Given the description of an element on the screen output the (x, y) to click on. 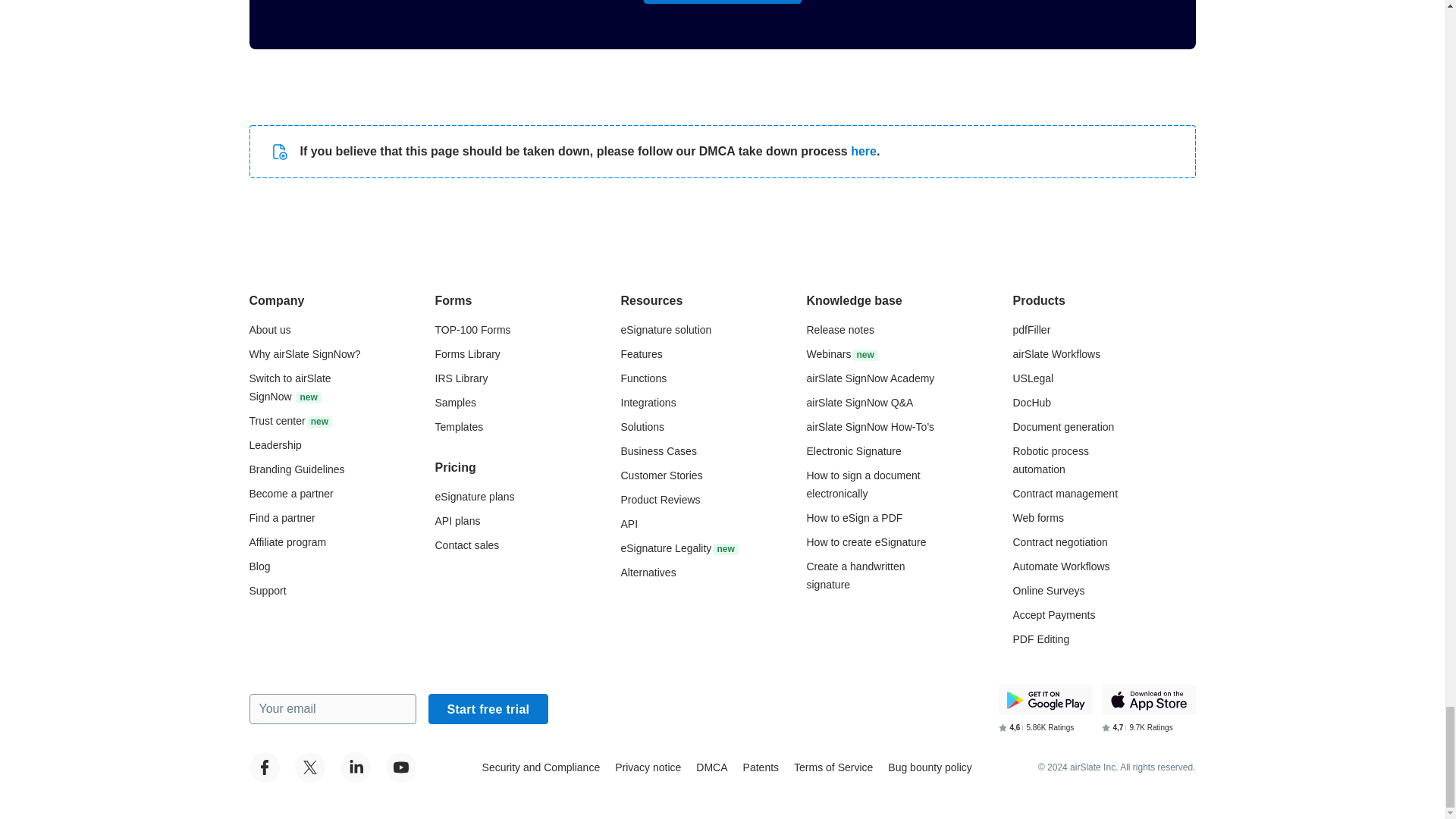
Go to the partners page (281, 517)
Go to the leadership page (274, 444)
Go to the top 100 forms page (473, 329)
Go to the Brand page (295, 469)
Go to the  airSlate signNow  irs library page (461, 378)
Go to the sample documents page (455, 402)
Go to the Migrate page (289, 387)
Go to the  airSlate signNow  forms library page (467, 354)
Go to the  airSlate signNow  API pricing page (457, 521)
Go to the support center (266, 590)
